Given the description of an element on the screen output the (x, y) to click on. 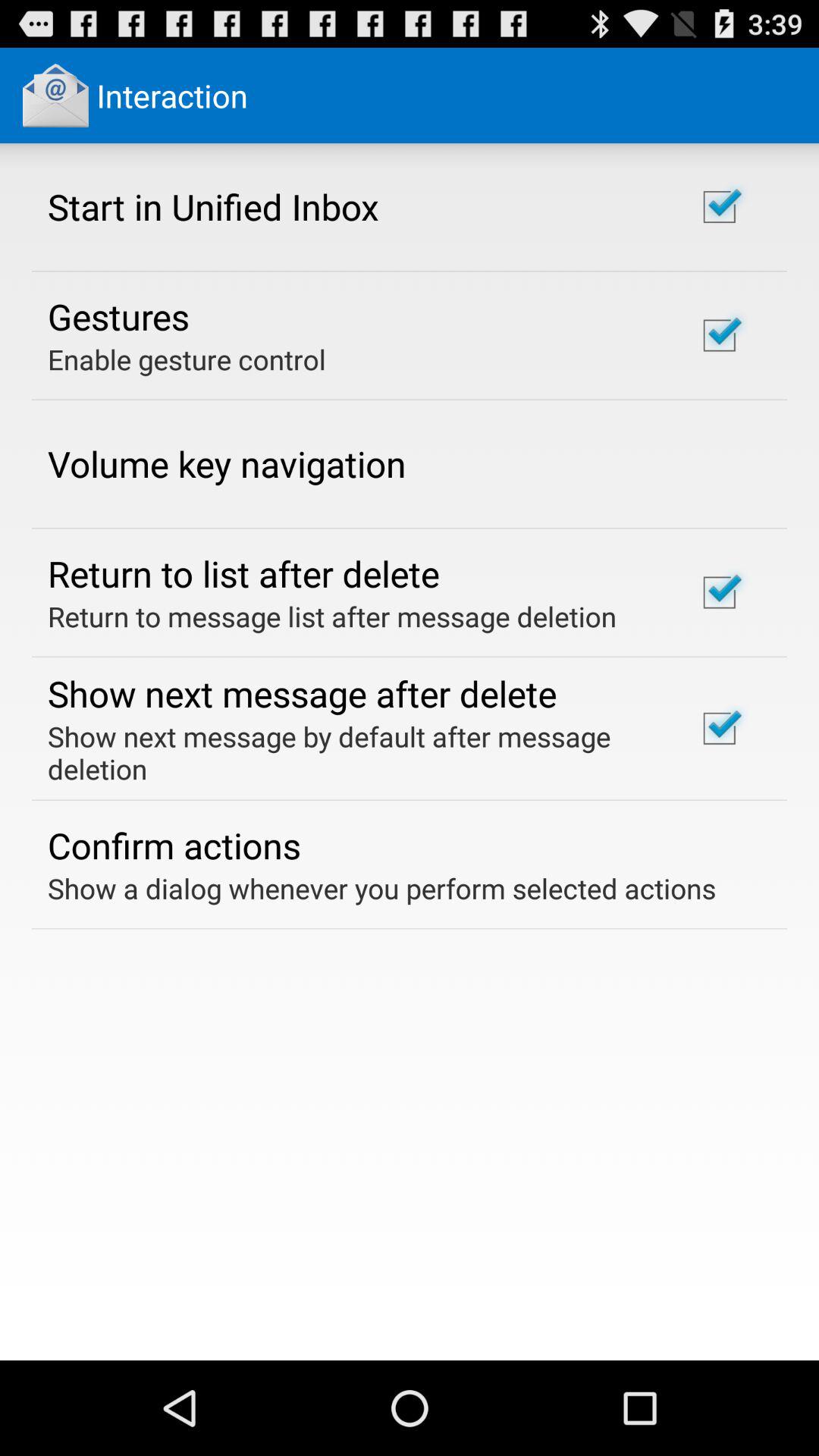
launch the enable gesture control (186, 359)
